Given the description of an element on the screen output the (x, y) to click on. 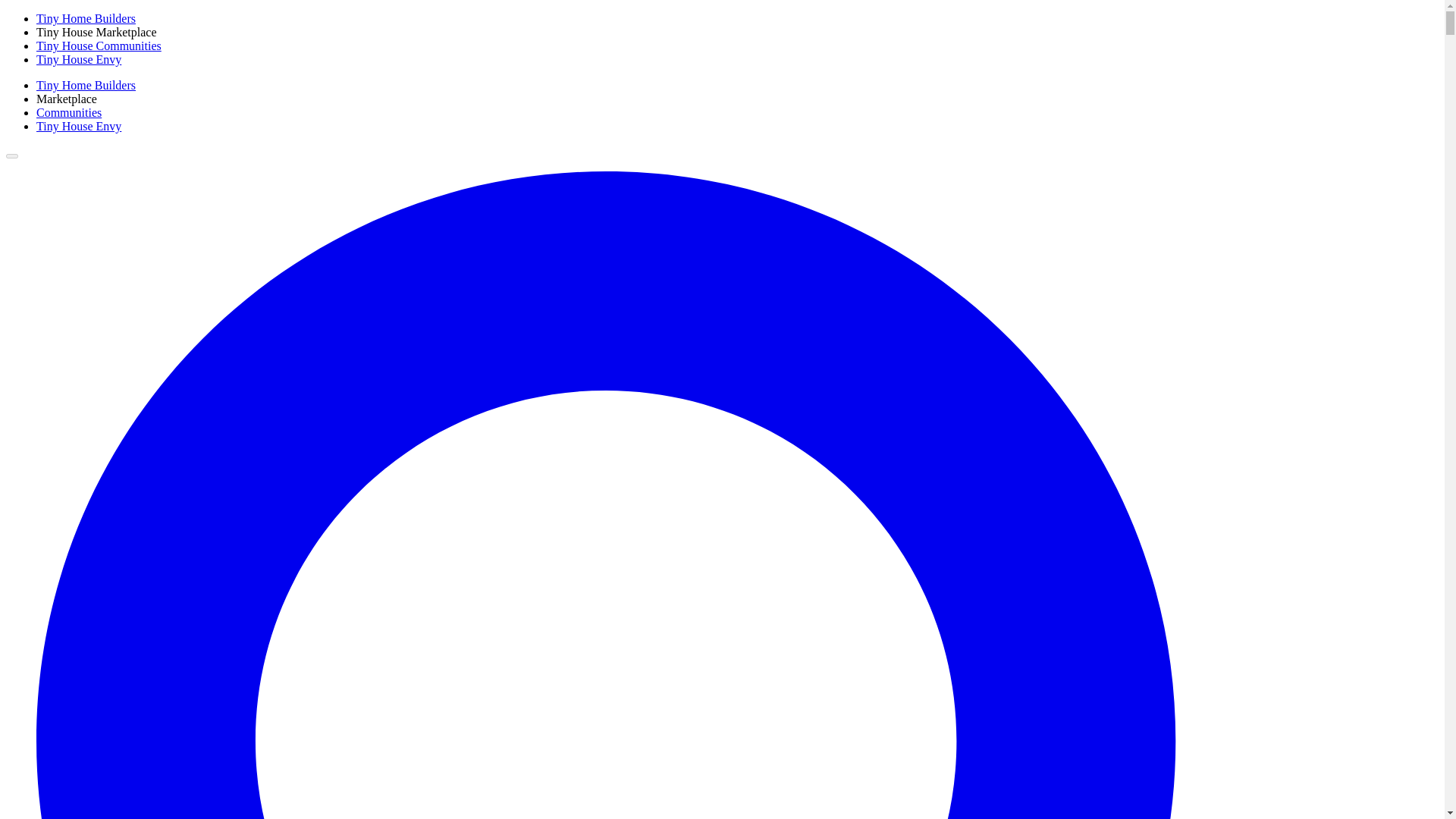
Tiny Home Builders (85, 84)
Tiny House Communities (98, 45)
Tiny House Envy (78, 125)
Tiny Home Builders (85, 18)
Communities (68, 112)
Tiny House Envy (78, 59)
